Given the description of an element on the screen output the (x, y) to click on. 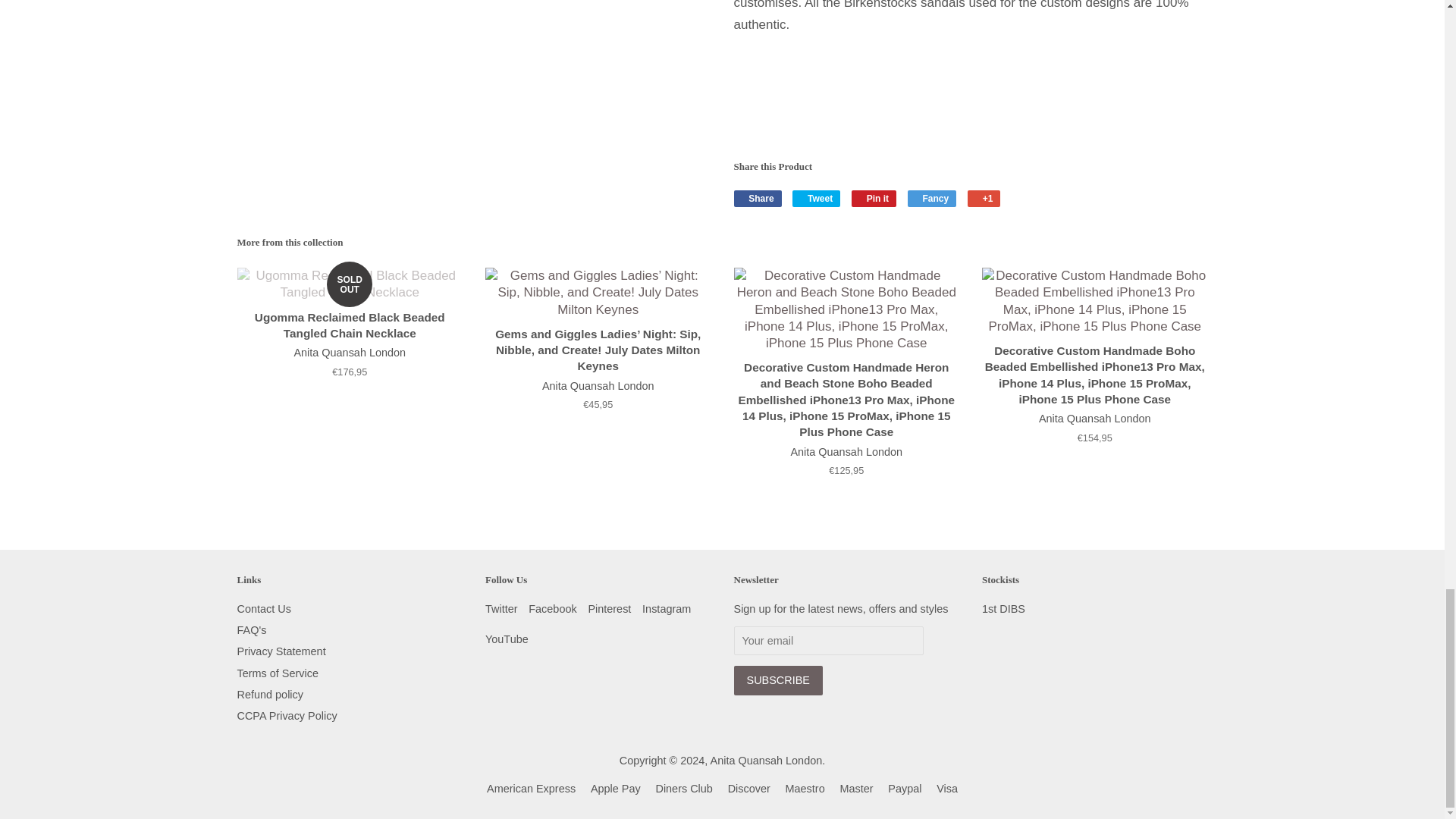
Share on Facebook (757, 198)
Anita Quansah London on Pinterest (609, 608)
Tweet on Twitter (816, 198)
Anita Quansah London on Instagram (666, 608)
Anita Quansah London on Facebook (552, 608)
Anita Quansah London on Twitter (501, 608)
Add to Fancy (931, 198)
Anita Quansah London on YouTube (506, 639)
Pin on Pinterest (873, 198)
Subscribe (777, 680)
